Given the description of an element on the screen output the (x, y) to click on. 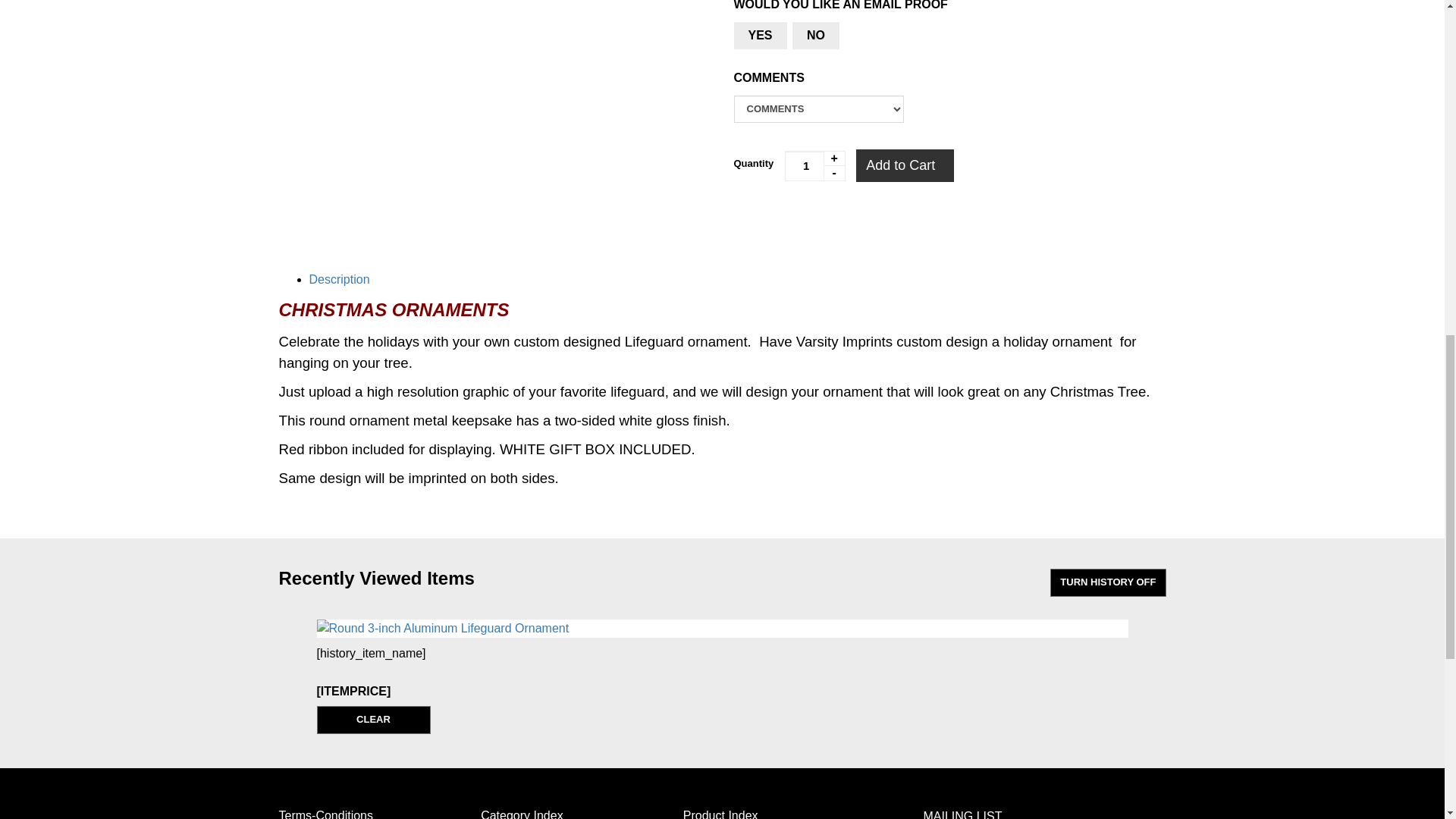
NO (816, 35)
YES (760, 35)
1 (814, 165)
